Given the description of an element on the screen output the (x, y) to click on. 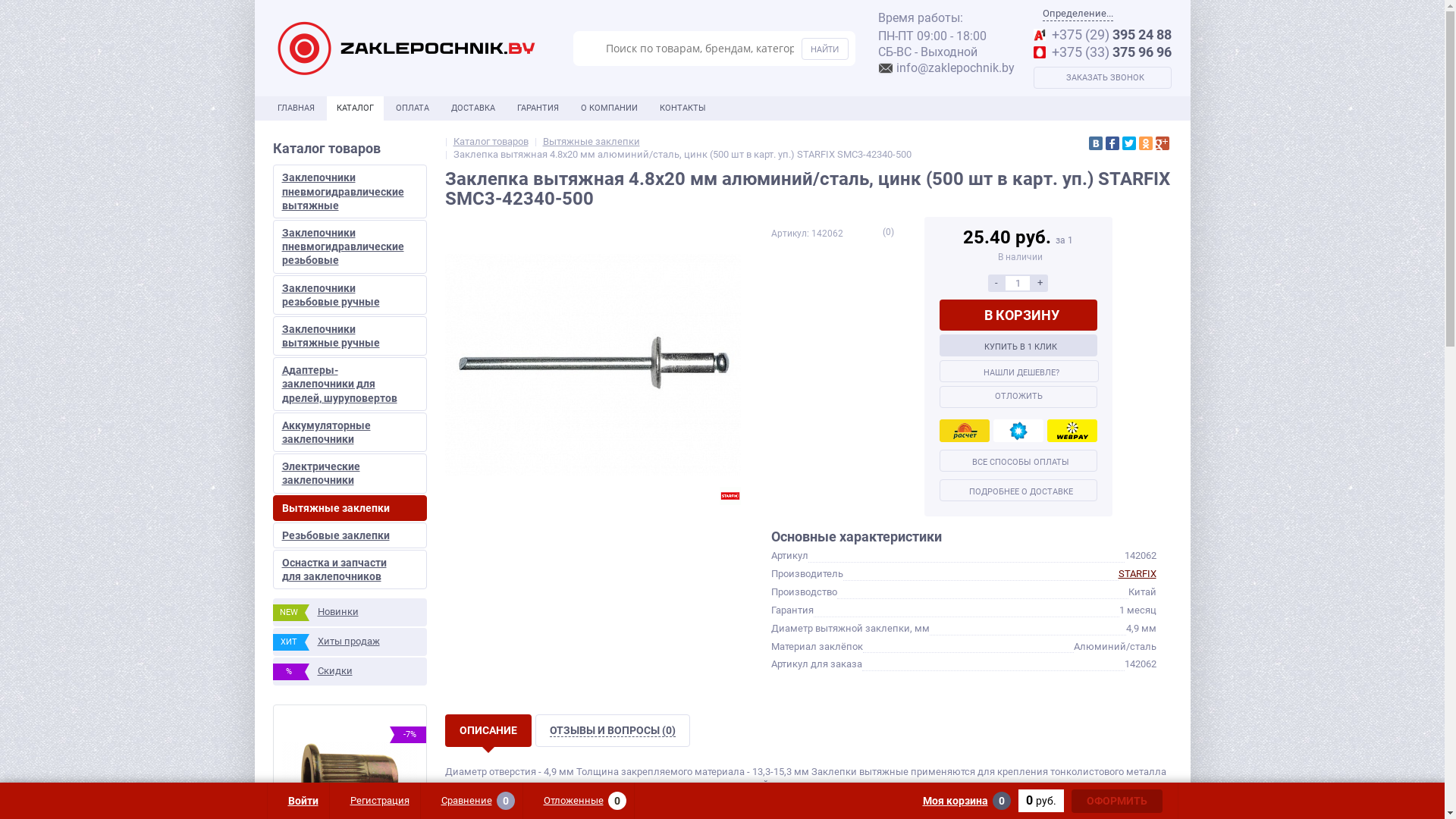
+ Element type: text (1039, 282)
Webpay Element type: hover (1072, 430)
mail-icon-15.jpg Element type: hover (885, 67)
- Element type: text (996, 282)
Google Plus Element type: hover (1162, 143)
STARFIX Element type: text (1136, 573)
Facebook Element type: hover (1112, 143)
STARFIX Element type: hover (729, 495)
Twitter Element type: hover (1128, 143)
